Given the description of an element on the screen output the (x, y) to click on. 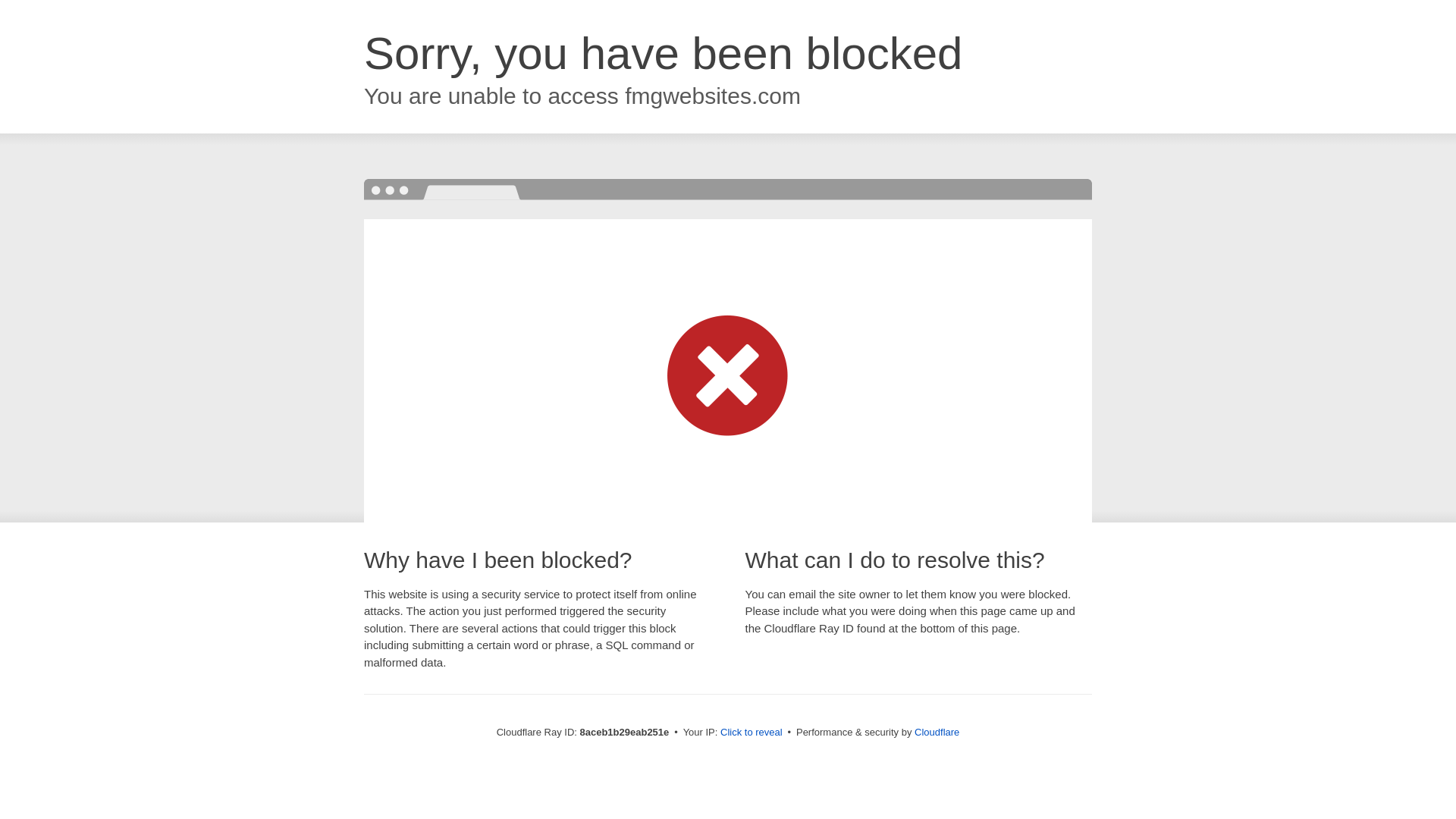
Click to reveal (751, 732)
Cloudflare (936, 731)
